Given the description of an element on the screen output the (x, y) to click on. 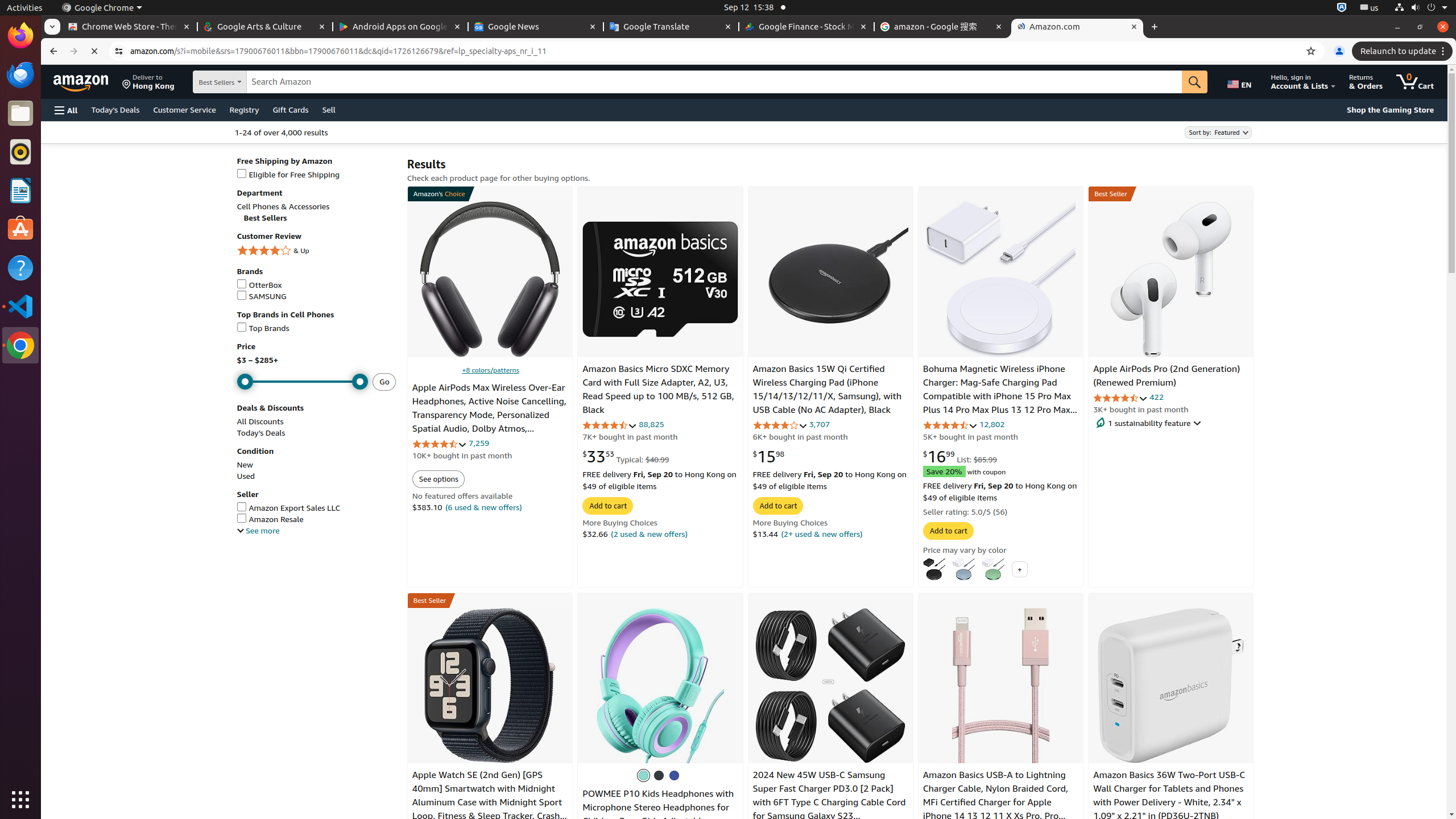
Back Element type: push-button (51, 50)
Help Element type: push-button (20, 267)
Deliver to Hong Kong Element type: link (148, 81)
Google Arts & Culture - Memory usage - 57.6 MB Element type: page-tab (264, 26)
Bohuma Magnetic Wireless iPhone Charger: Mag-Safe Charging Pad Compatible with iPhone 15 Pro Max Plus 14 Pro Max Plus 13 12 Pro Max - Fast Charger Pad Dock for AirPods Pro 3 2 Element type: link (999, 402)
